Given the description of an element on the screen output the (x, y) to click on. 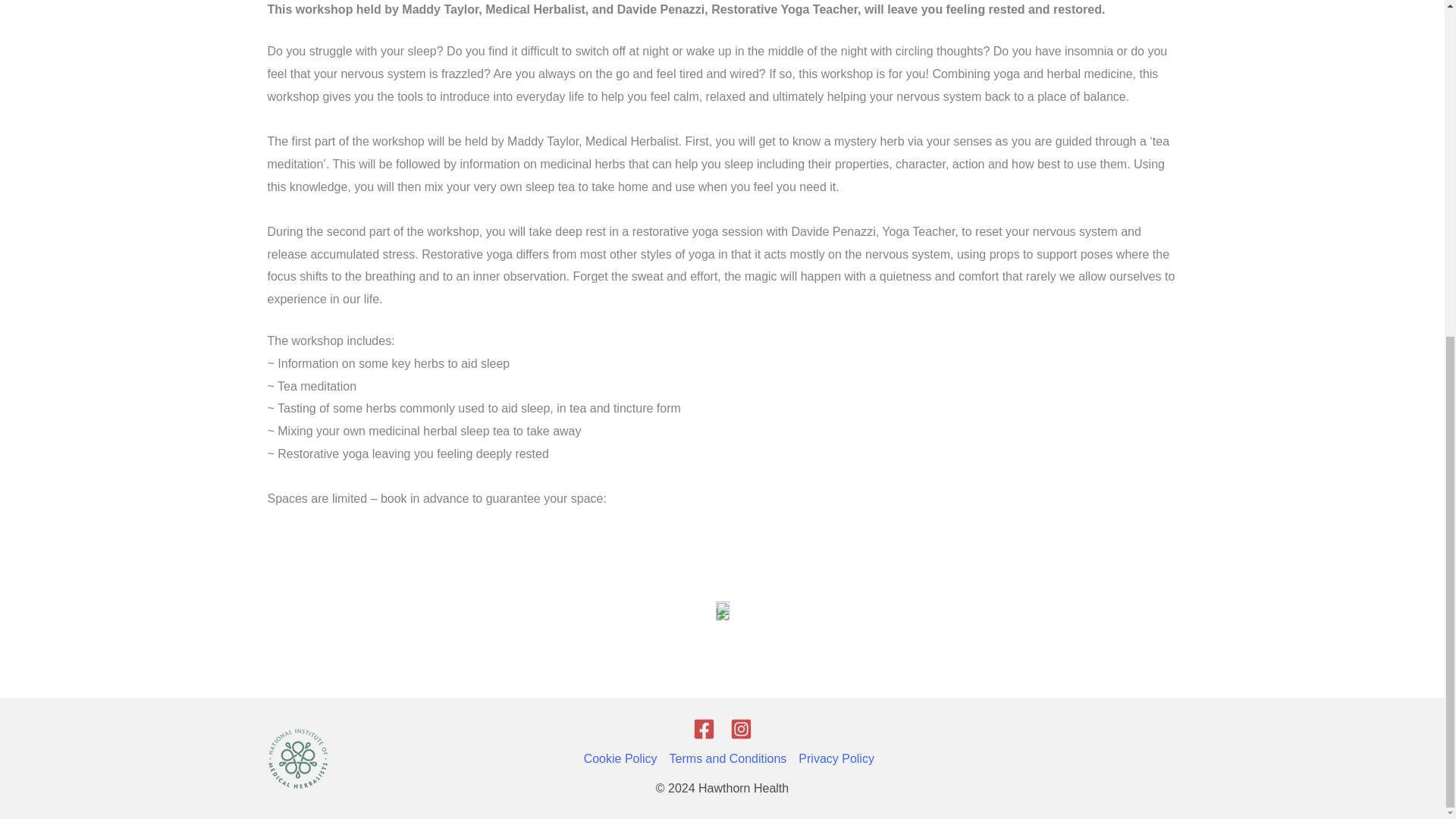
Cookie Policy (623, 758)
Privacy Policy (833, 758)
Terms and Conditions (728, 758)
